Given the description of an element on the screen output the (x, y) to click on. 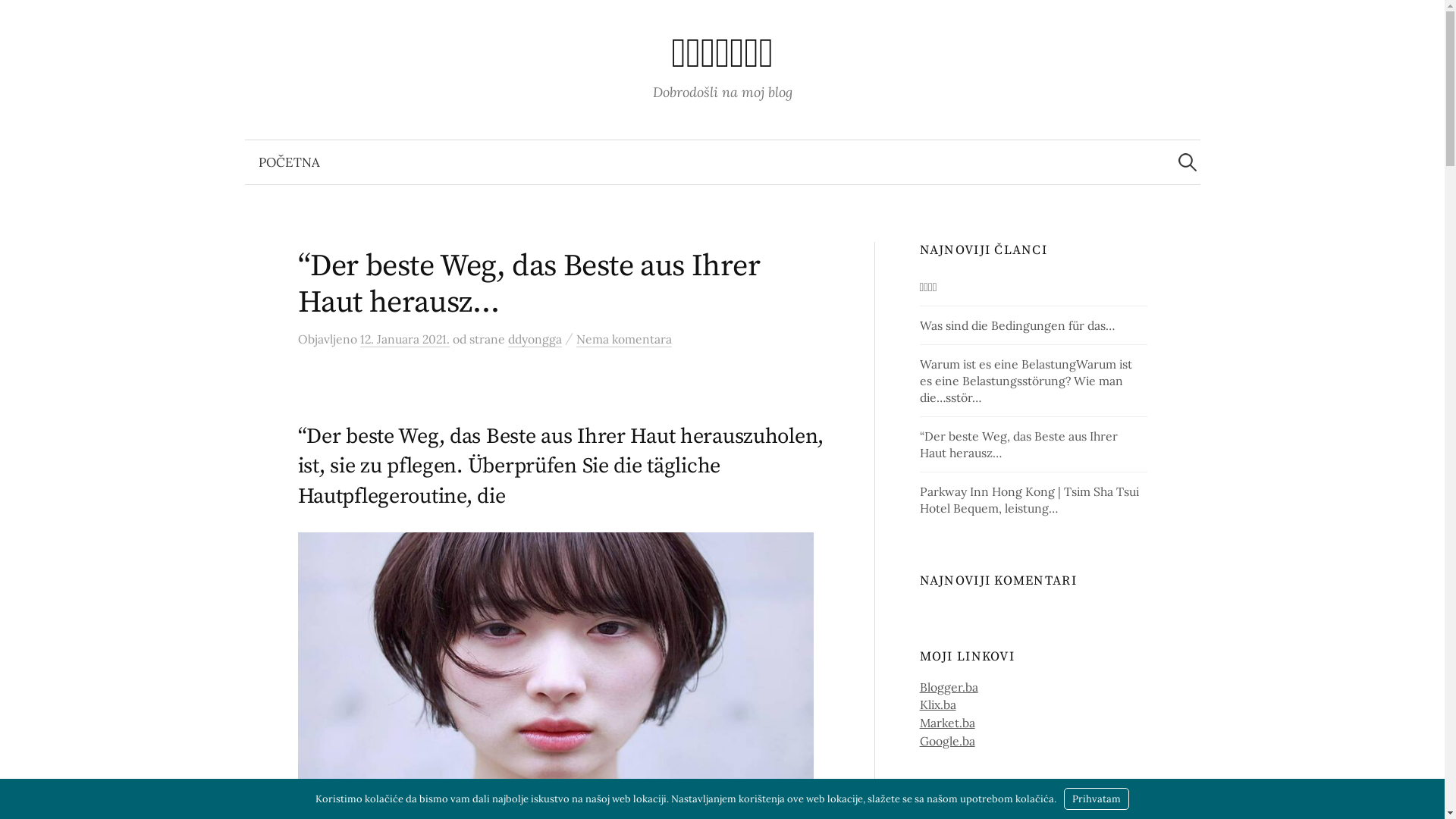
Market.ba Element type: text (947, 722)
Blogger.ba Element type: text (948, 686)
12. Januara 2021. Element type: text (403, 339)
Google.ba Element type: text (947, 740)
Klix.ba Element type: text (937, 704)
Pretraga Element type: text (18, 18)
Prihvatam Element type: text (1096, 798)
ddyongga Element type: text (534, 339)
